Given the description of an element on the screen output the (x, y) to click on. 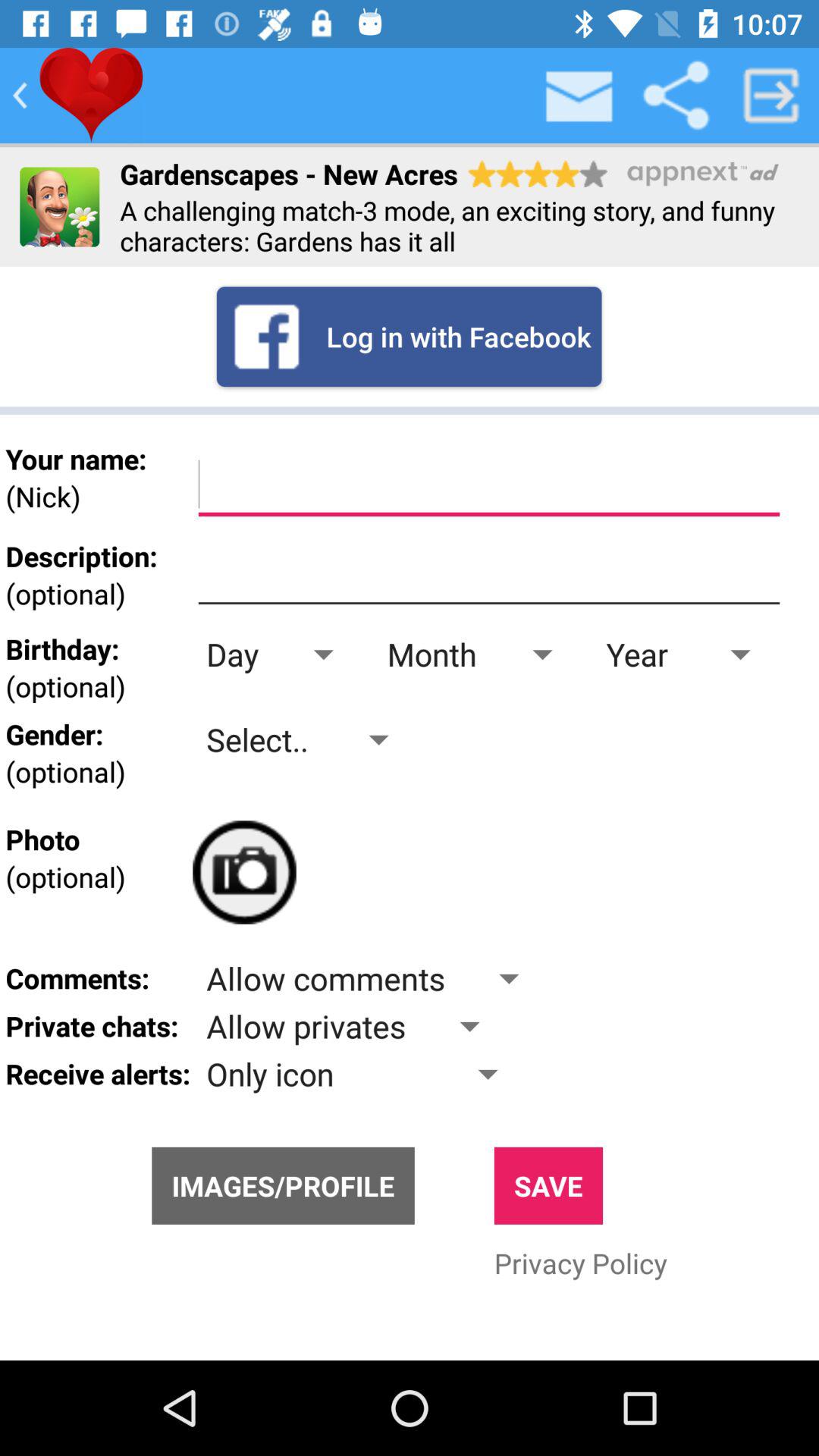
name field (488, 485)
